Given the description of an element on the screen output the (x, y) to click on. 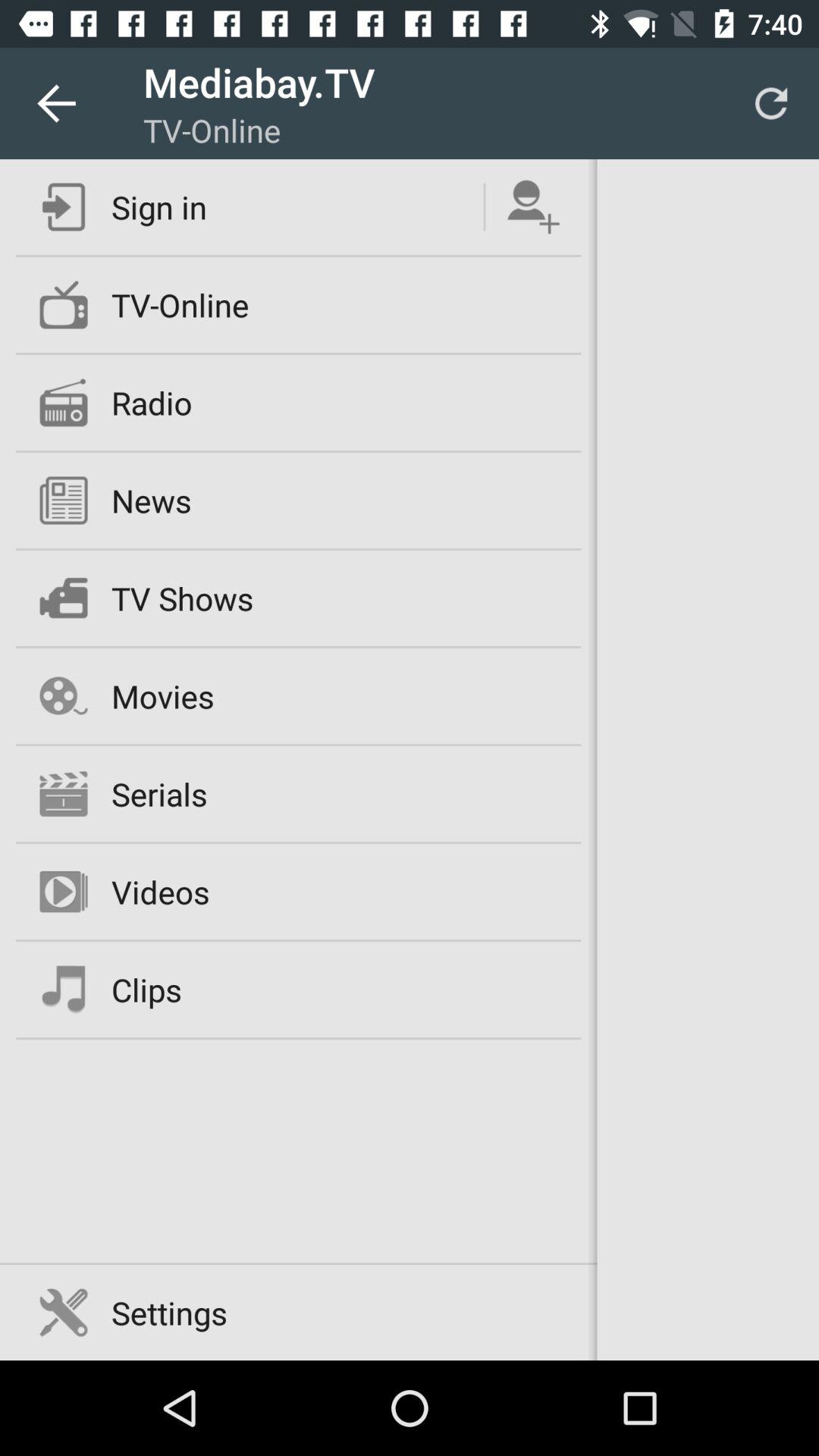
flip until serials icon (159, 793)
